Given the description of an element on the screen output the (x, y) to click on. 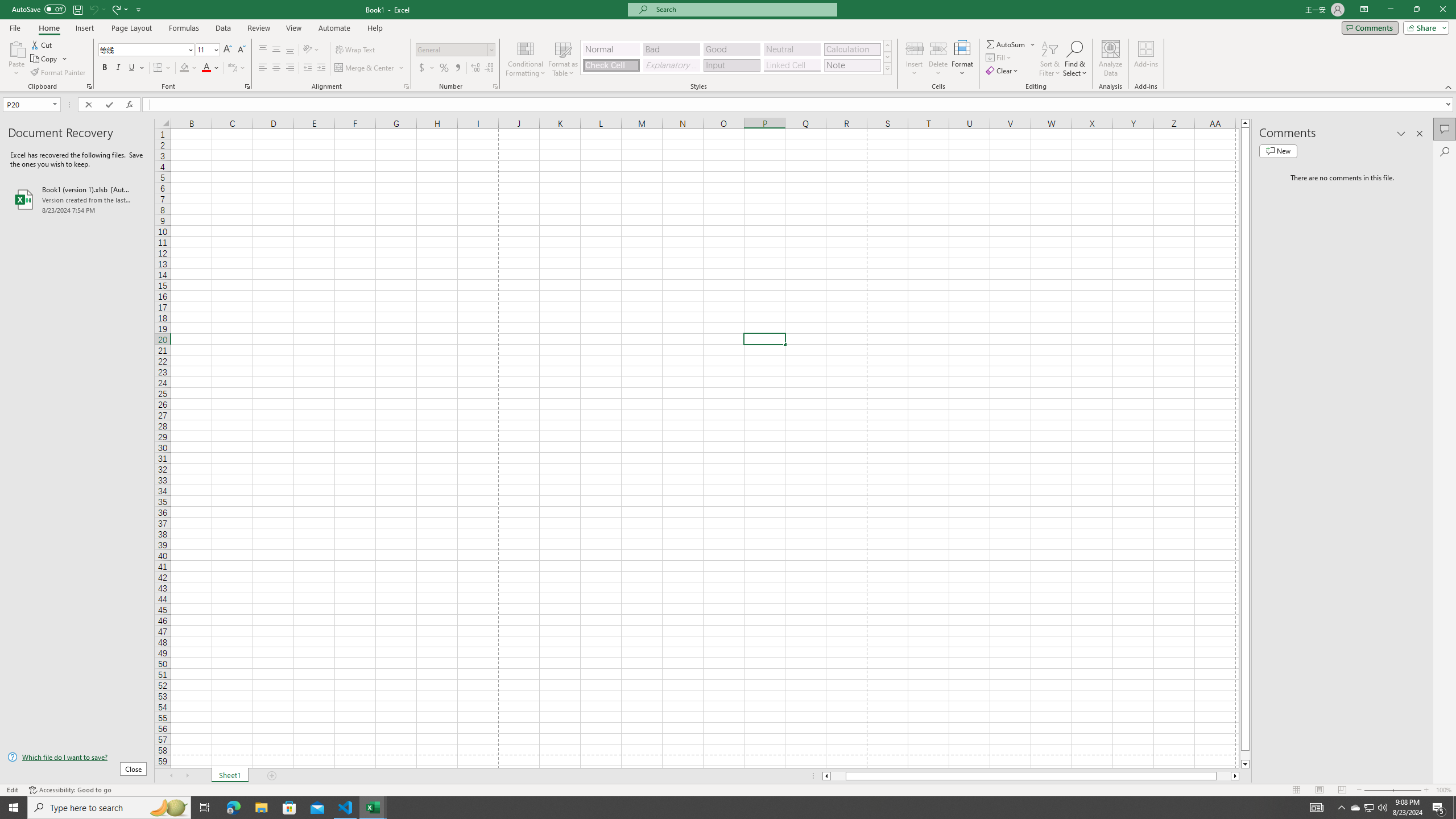
Office Clipboard... (88, 85)
Formula Bar (799, 104)
Save (77, 9)
Italic (118, 67)
AutoSum (1011, 44)
Decrease Font Size (240, 49)
Number Format (455, 49)
Sum (1006, 44)
Copy (49, 58)
Cut (42, 44)
Minimize (1390, 9)
Review (258, 28)
Font (142, 49)
Note (852, 65)
